Given the description of an element on the screen output the (x, y) to click on. 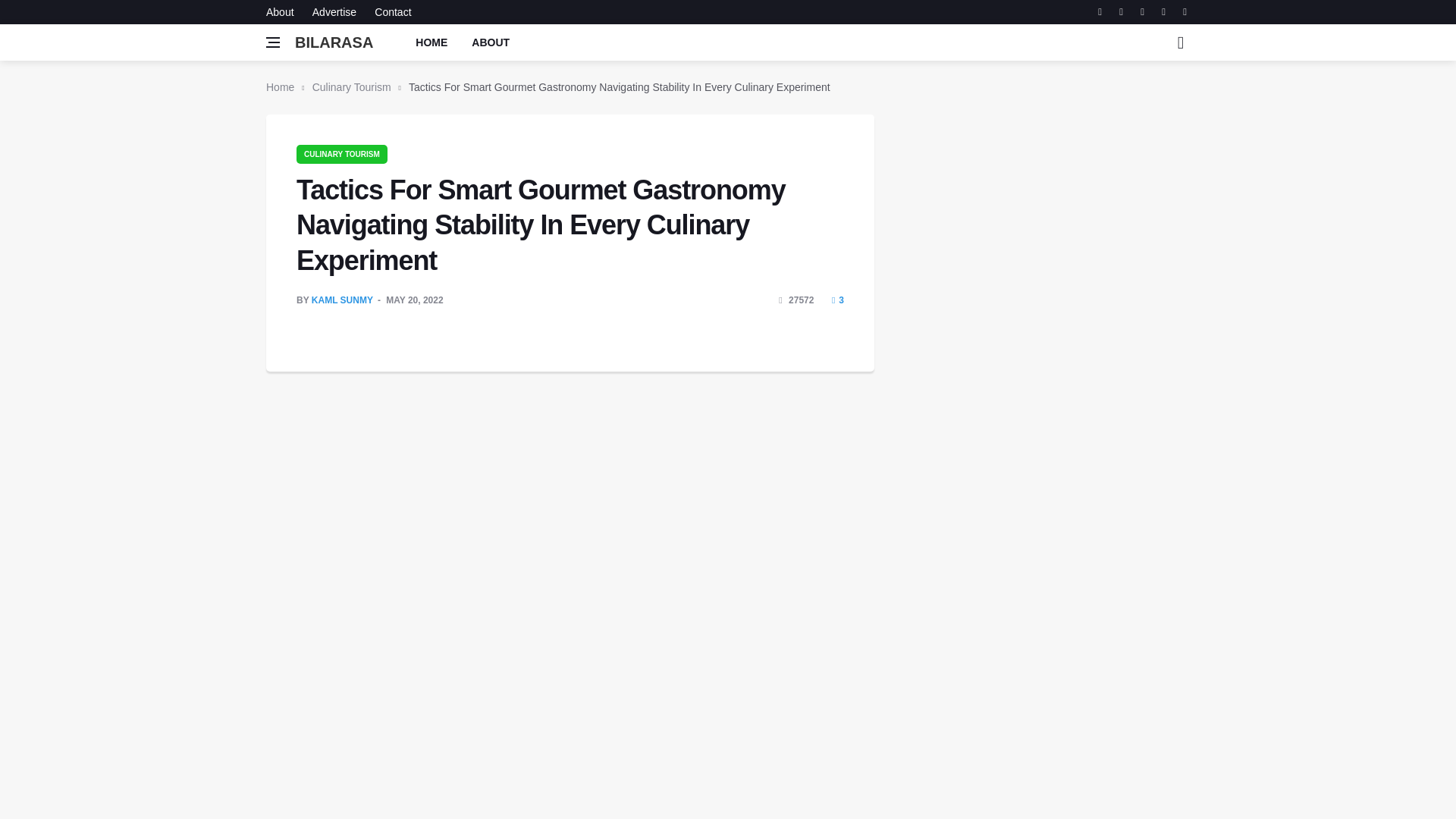
CULINARY TOURISM (342, 153)
HOME (431, 42)
Home (280, 87)
BILARASA (333, 42)
ABOUT (490, 42)
3 (837, 299)
Advertise (334, 12)
Culinary Tourism (352, 87)
Contact (388, 12)
KAML SUNMY (341, 299)
About (283, 12)
